Given the description of an element on the screen output the (x, y) to click on. 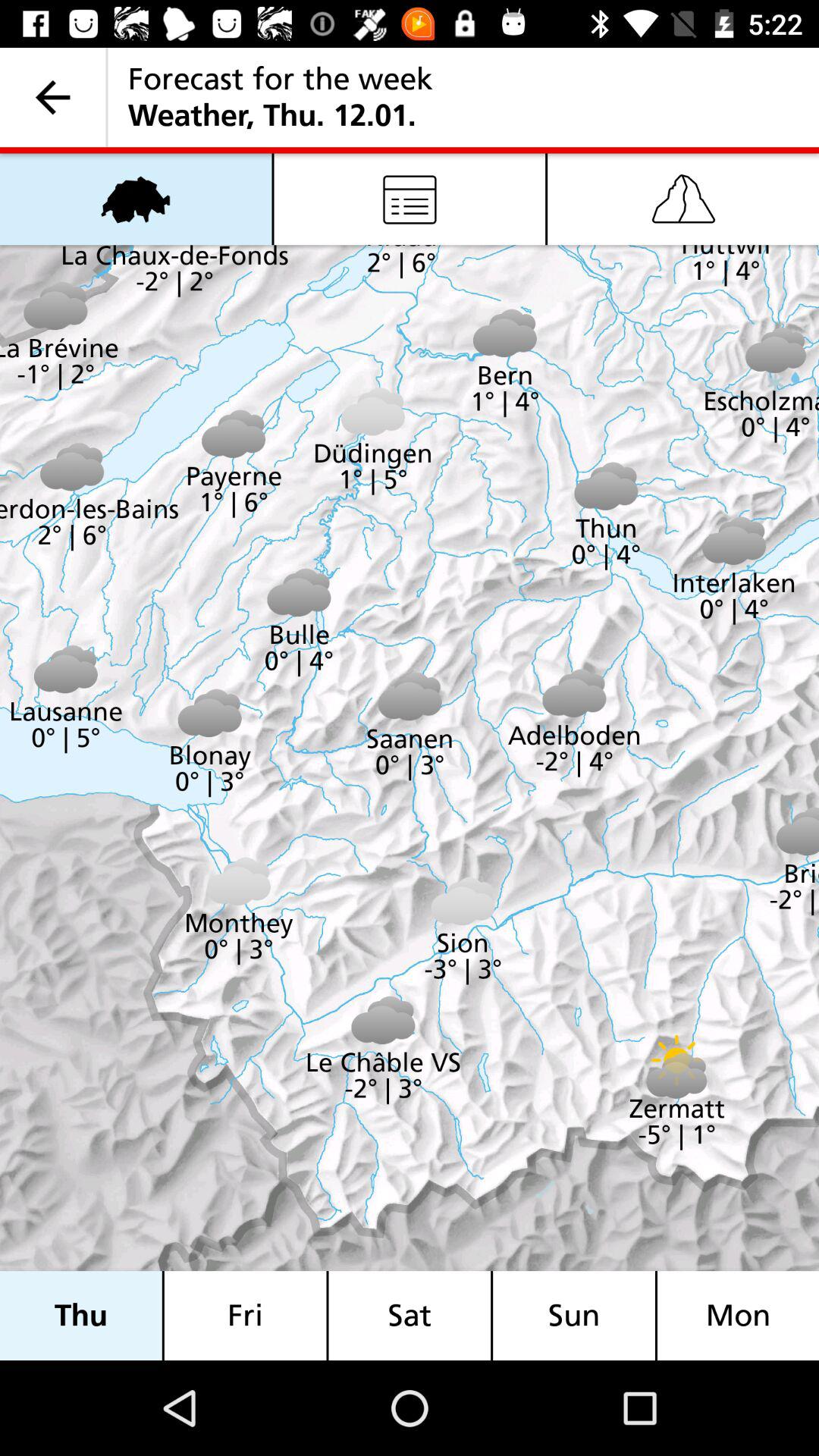
click the item above thu (135, 199)
